Given the description of an element on the screen output the (x, y) to click on. 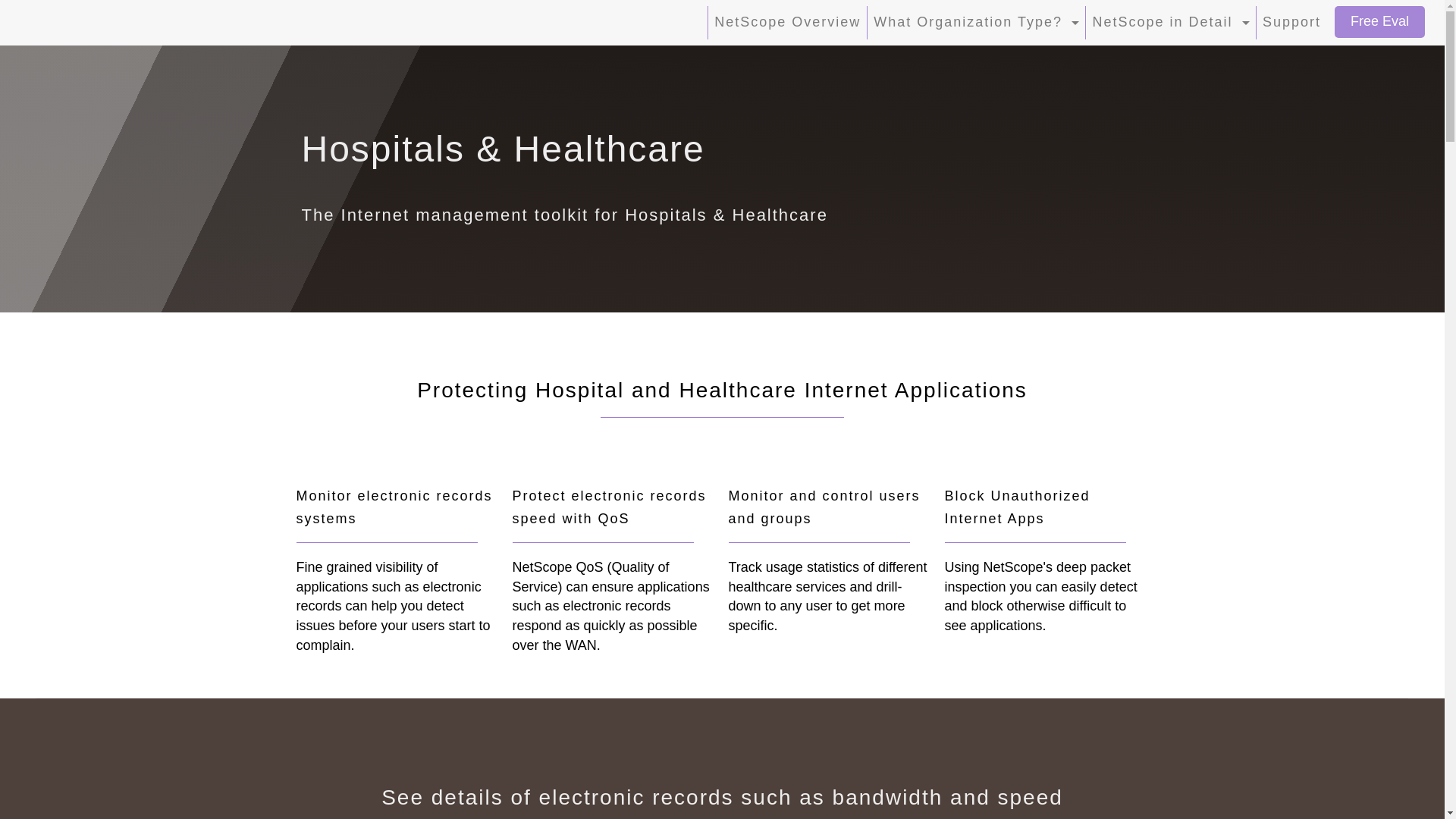
Free Eval (1380, 21)
Free Eval (1379, 22)
Support (1290, 22)
NetScope Overview (786, 22)
What Organization Type? (975, 22)
NetScope in Detail (1169, 22)
